Given the description of an element on the screen output the (x, y) to click on. 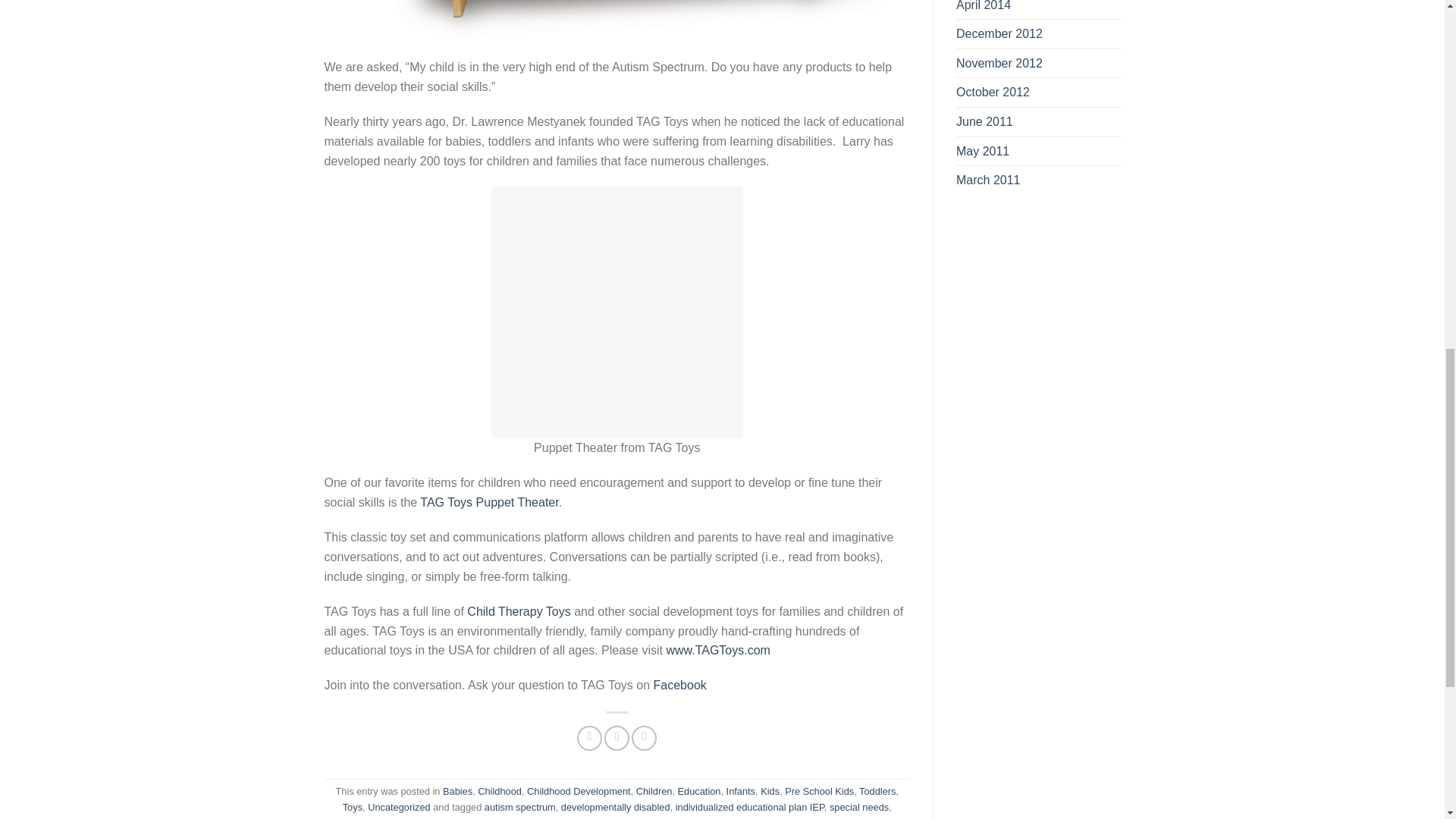
Pin on Pinterest (643, 738)
Ask a Question to TAG Toys on Facebook (679, 684)
Share on Twitter (616, 738)
TAG Toys Puppet Theater Set (488, 502)
Child Therapy Toys at TAG Toys (717, 649)
TAG Toys Child Therapy Toys (518, 611)
Share on Facebook (589, 738)
